Given the description of an element on the screen output the (x, y) to click on. 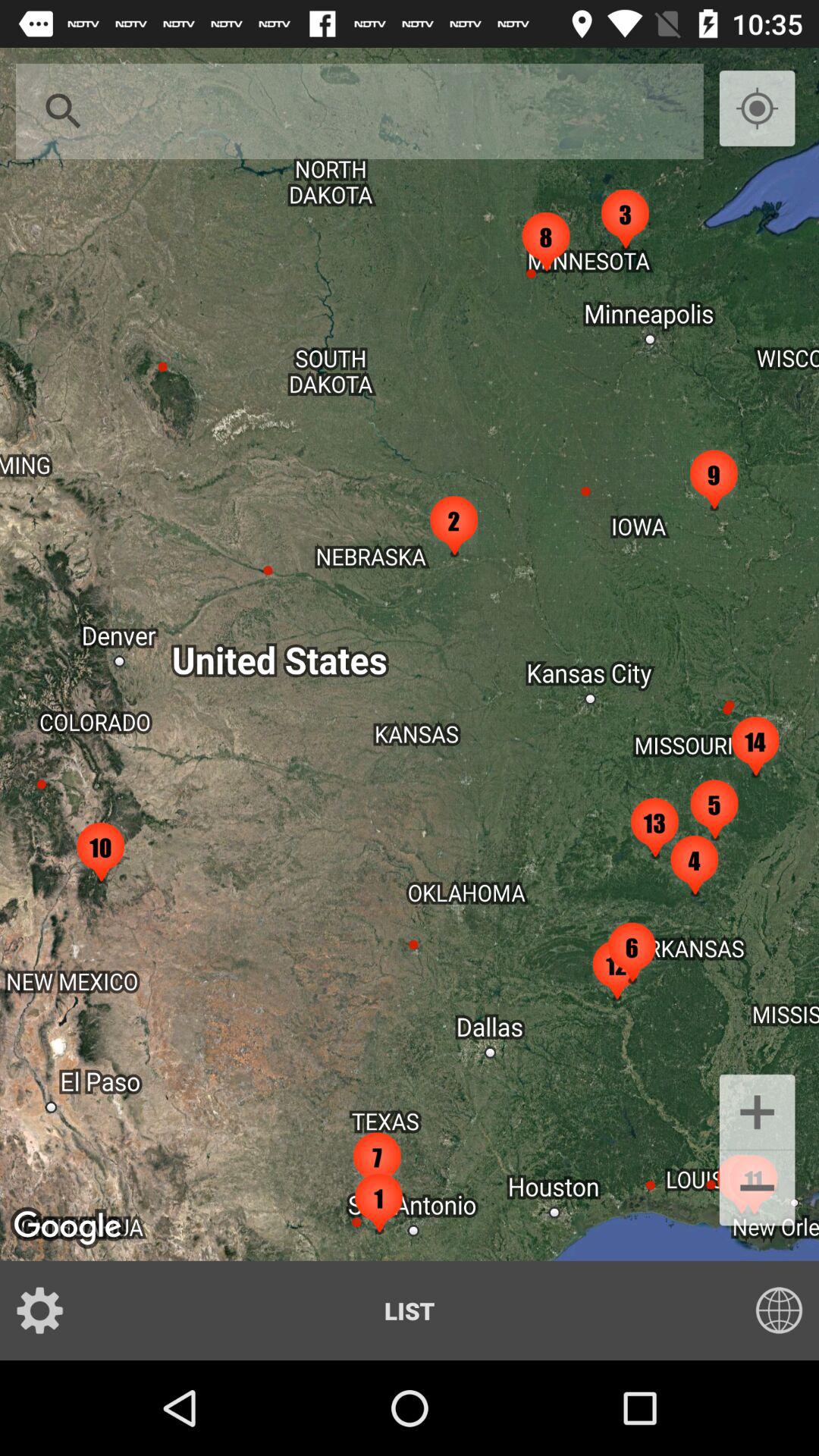
tap icon at the top right corner (757, 109)
